Given the description of an element on the screen output the (x, y) to click on. 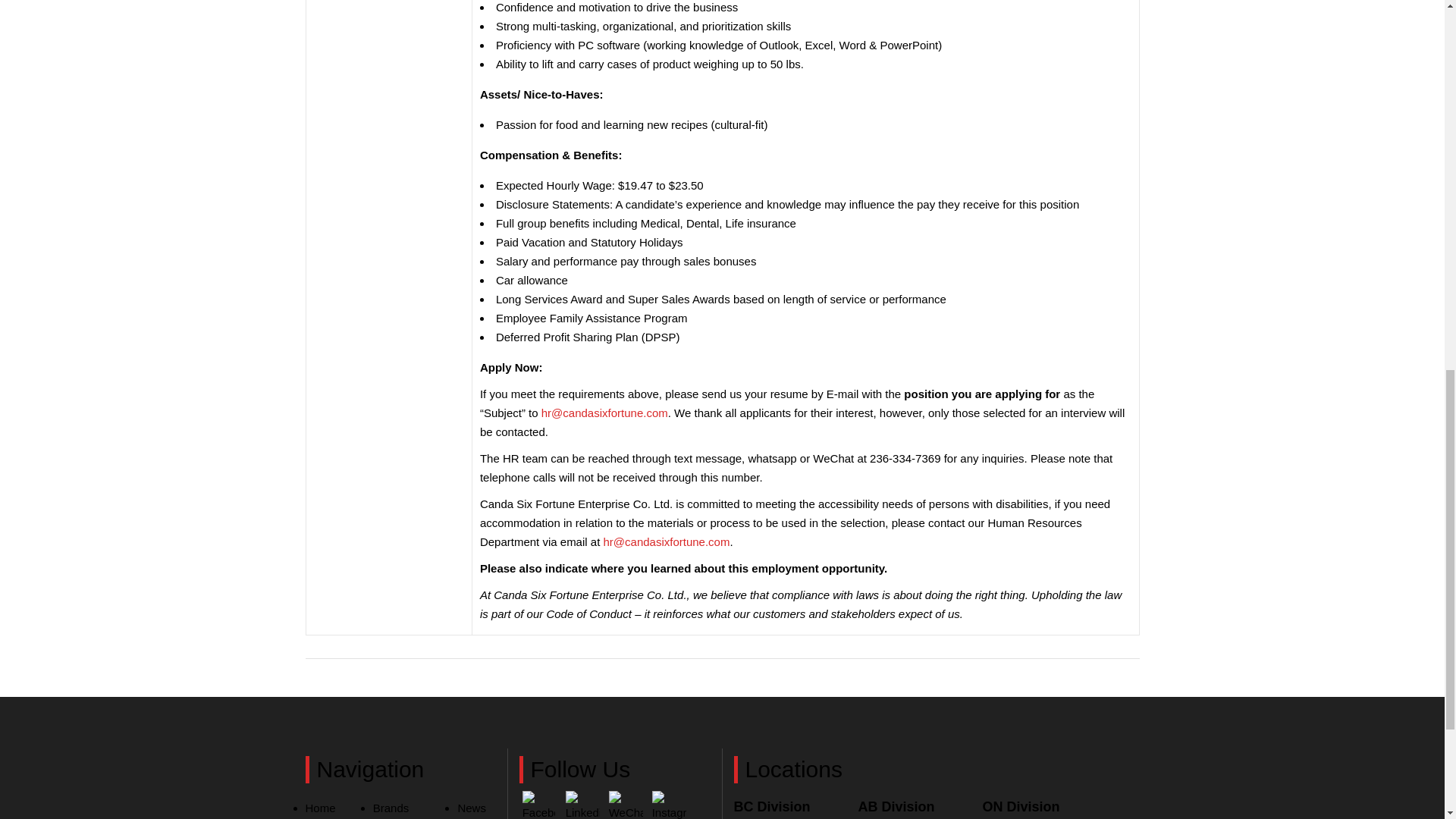
Facebook (538, 805)
Linkedin (576, 805)
Instagram (664, 805)
WeChat (621, 805)
